Given the description of an element on the screen output the (x, y) to click on. 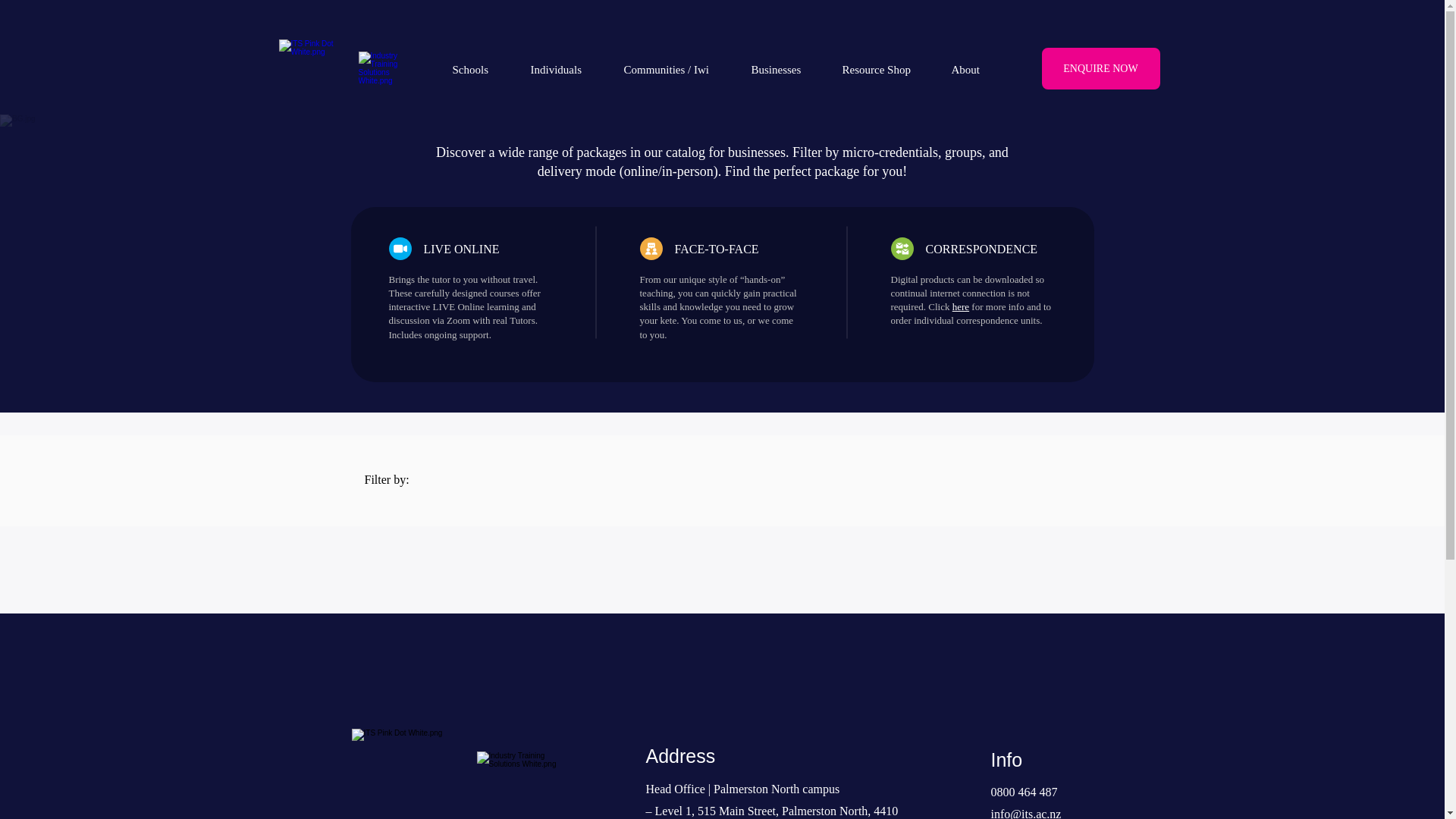
About (975, 69)
Schools (480, 69)
Businesses (785, 69)
ENQUIRE NOW (1101, 68)
Resource Shop (885, 69)
here (960, 306)
Individuals (564, 69)
